Given the description of an element on the screen output the (x, y) to click on. 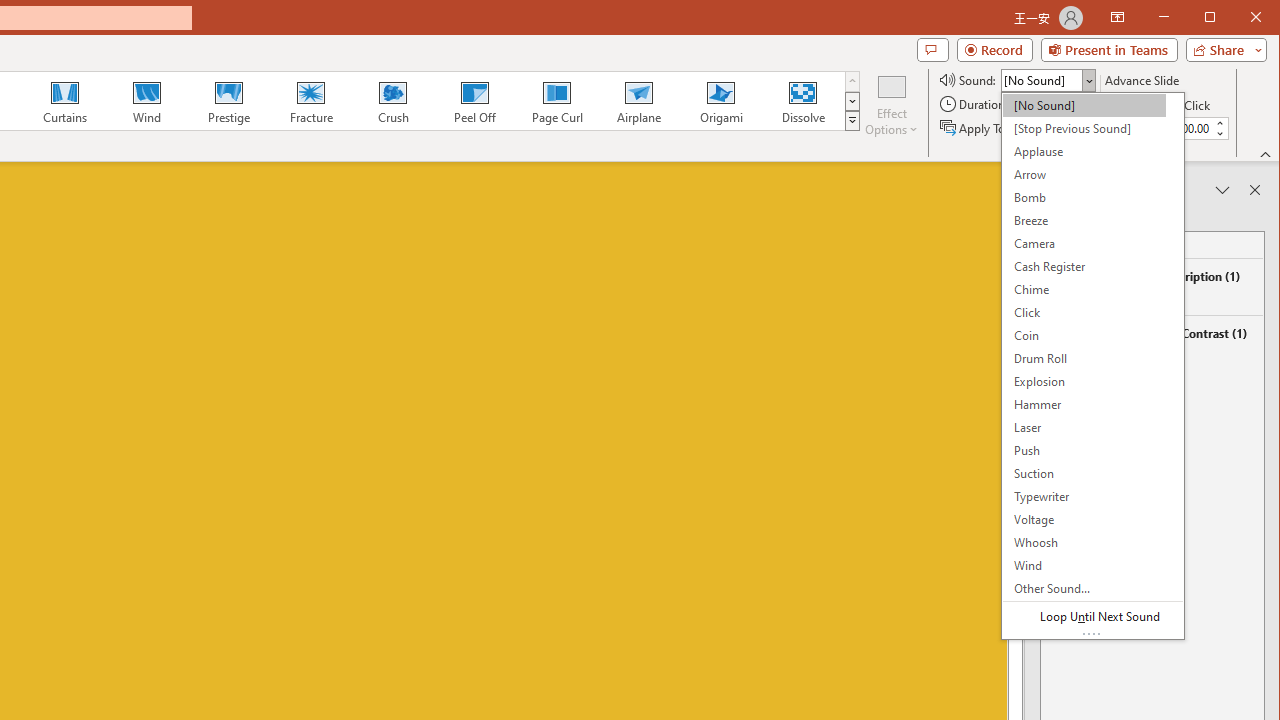
Record (994, 49)
Row Down (852, 101)
Close (1261, 18)
Task Pane Options (1222, 189)
Present in Teams (1108, 49)
Sound: (1092, 366)
Minimize (1216, 18)
Prestige (229, 100)
Airplane (638, 100)
Transition Effects (852, 120)
Effect Options (891, 104)
Fracture (311, 100)
Comments (932, 49)
Share (1222, 49)
Curtains (65, 100)
